Given the description of an element on the screen output the (x, y) to click on. 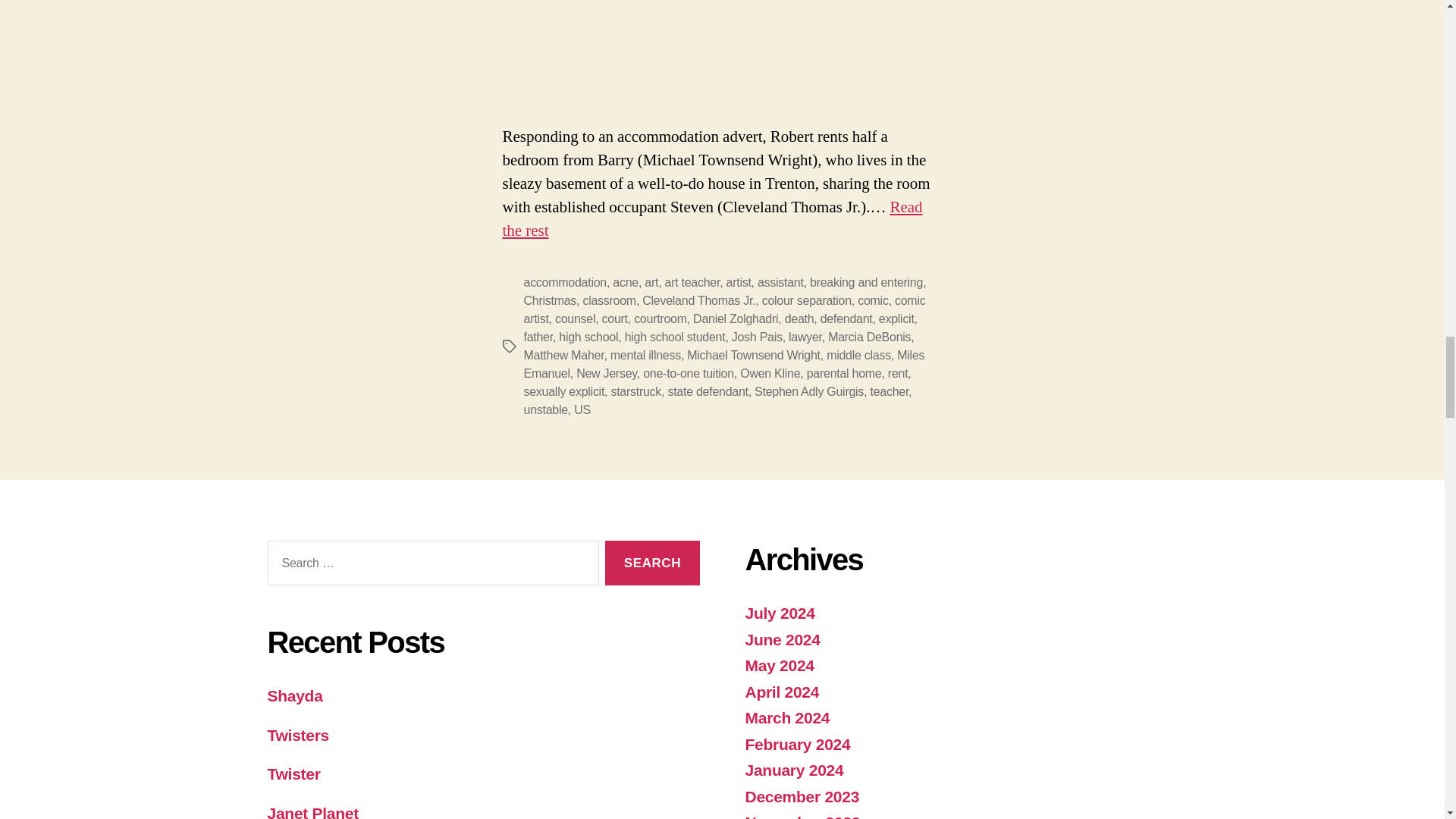
Search (651, 562)
Search (651, 562)
